Given the description of an element on the screen output the (x, y) to click on. 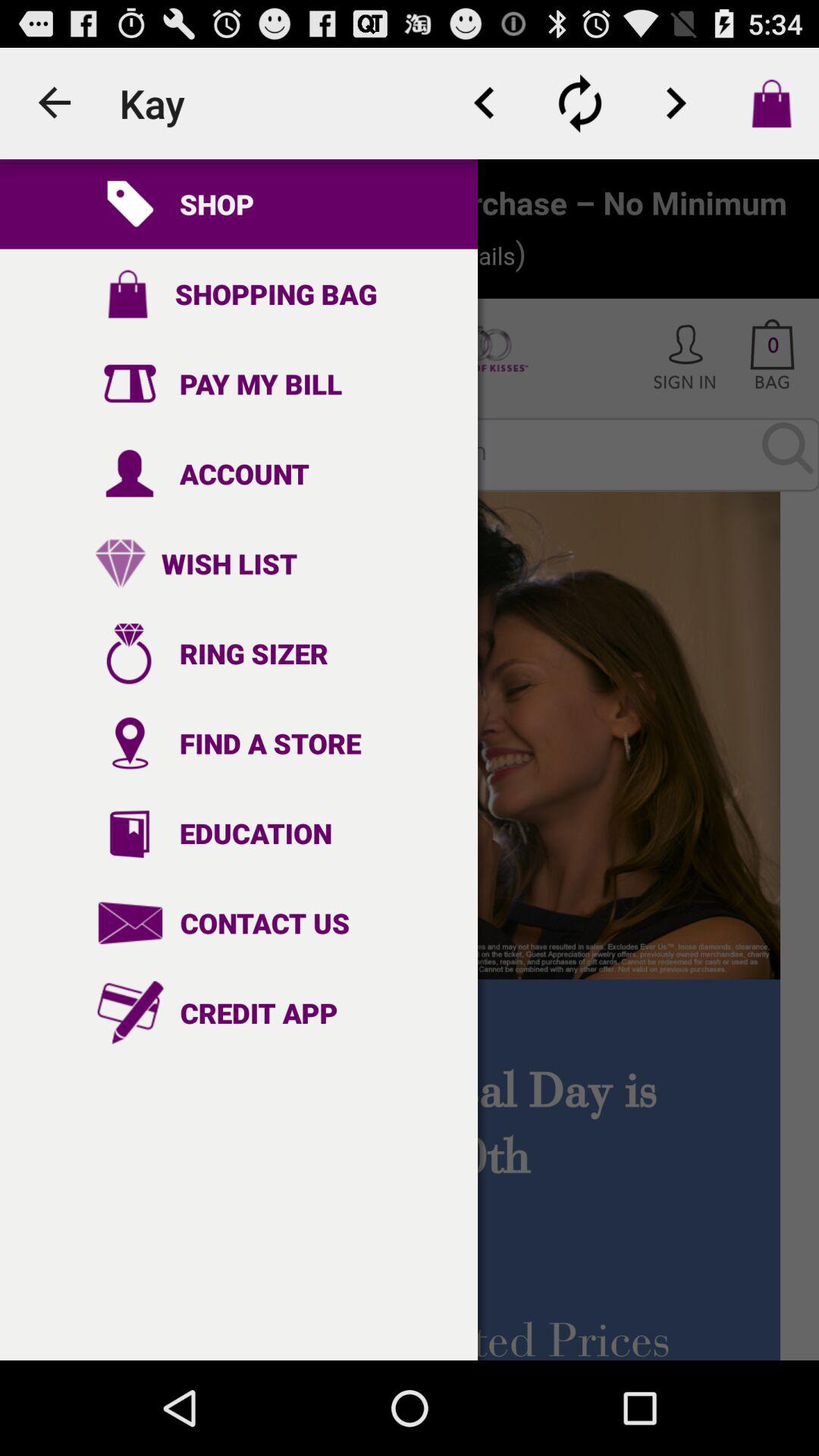
go do next (675, 103)
